Given the description of an element on the screen output the (x, y) to click on. 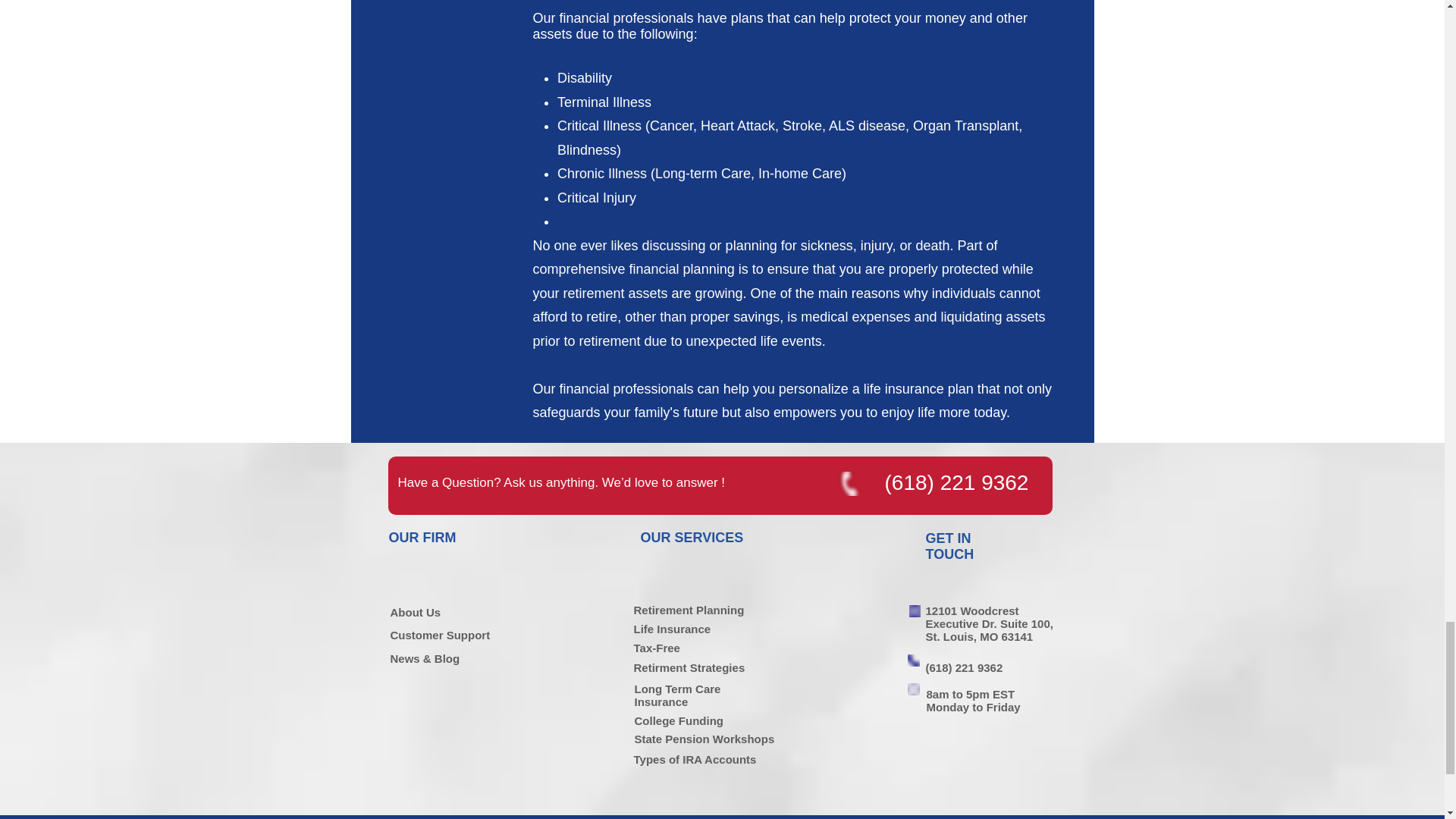
Customer Support (439, 634)
About Us (415, 612)
Retirement Planning (688, 609)
